Given the description of an element on the screen output the (x, y) to click on. 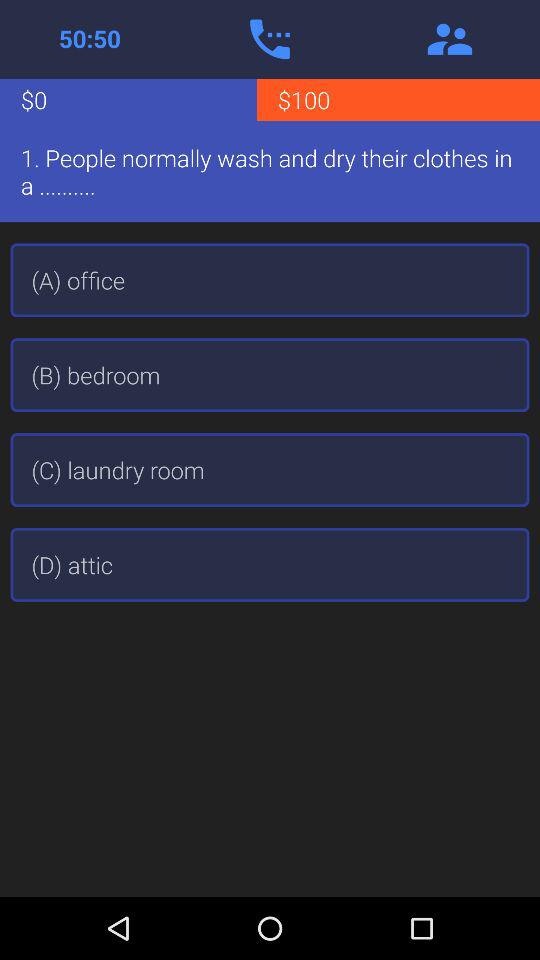
open the (c) laundry room item (269, 469)
